Given the description of an element on the screen output the (x, y) to click on. 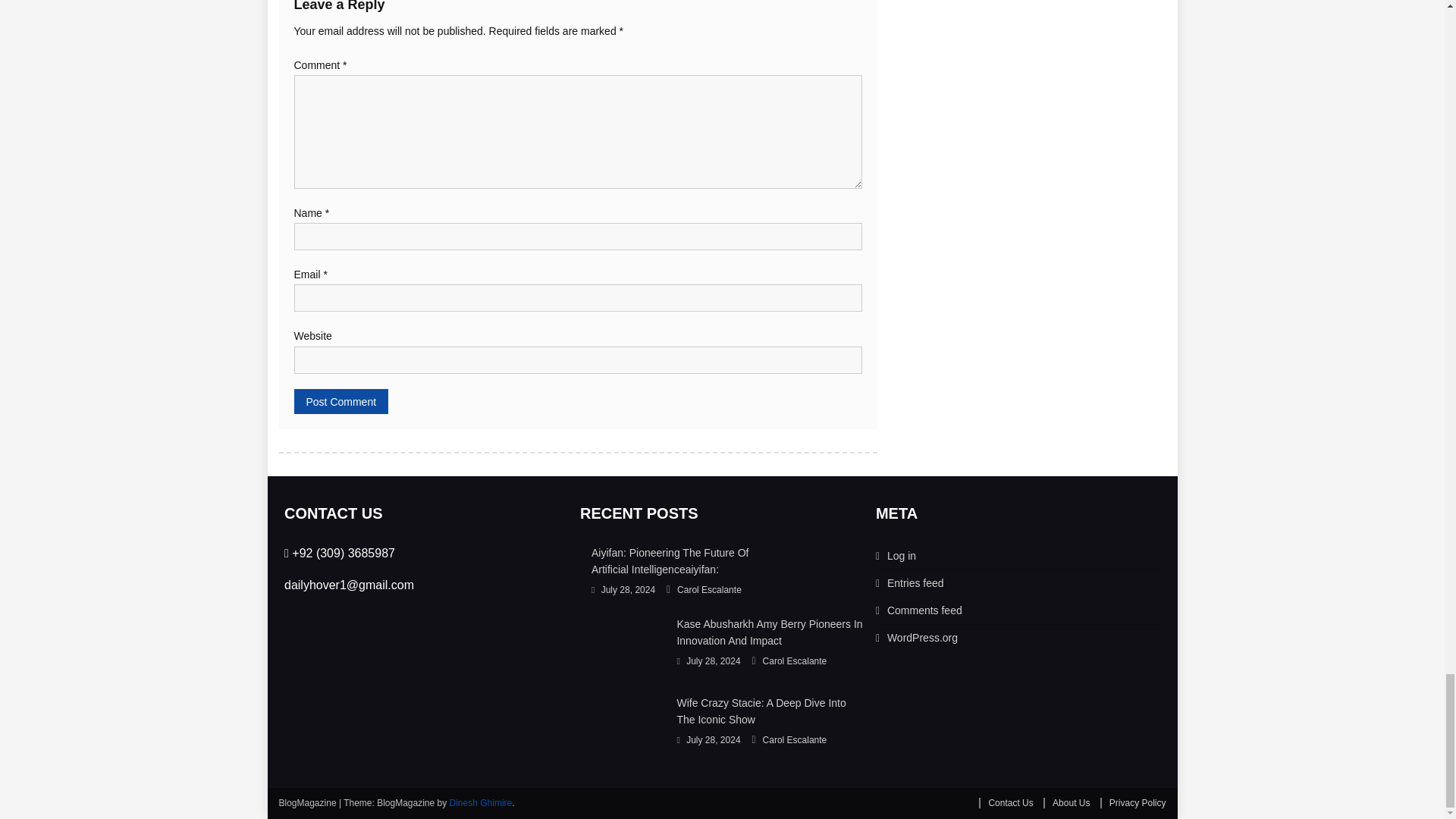
Post Comment (341, 401)
